Given the description of an element on the screen output the (x, y) to click on. 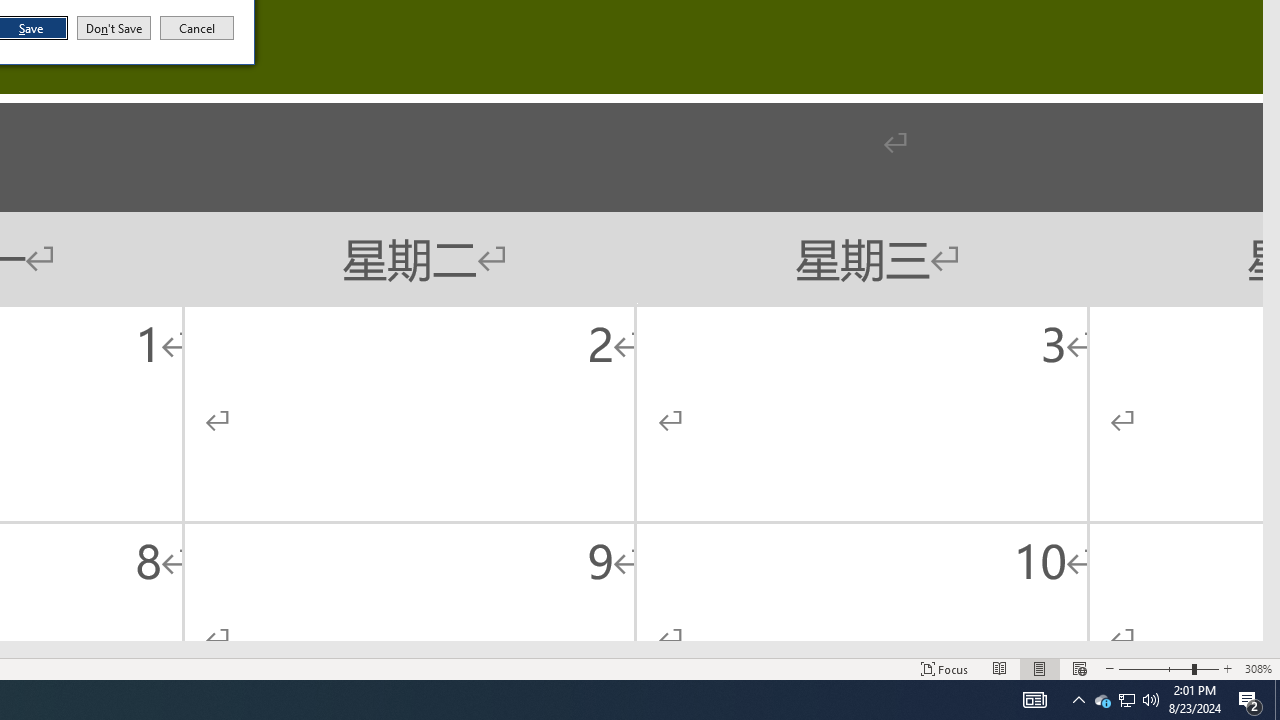
Focus  (944, 668)
Show desktop (1277, 699)
Action Center, 2 new notifications (1250, 699)
